Given the description of an element on the screen output the (x, y) to click on. 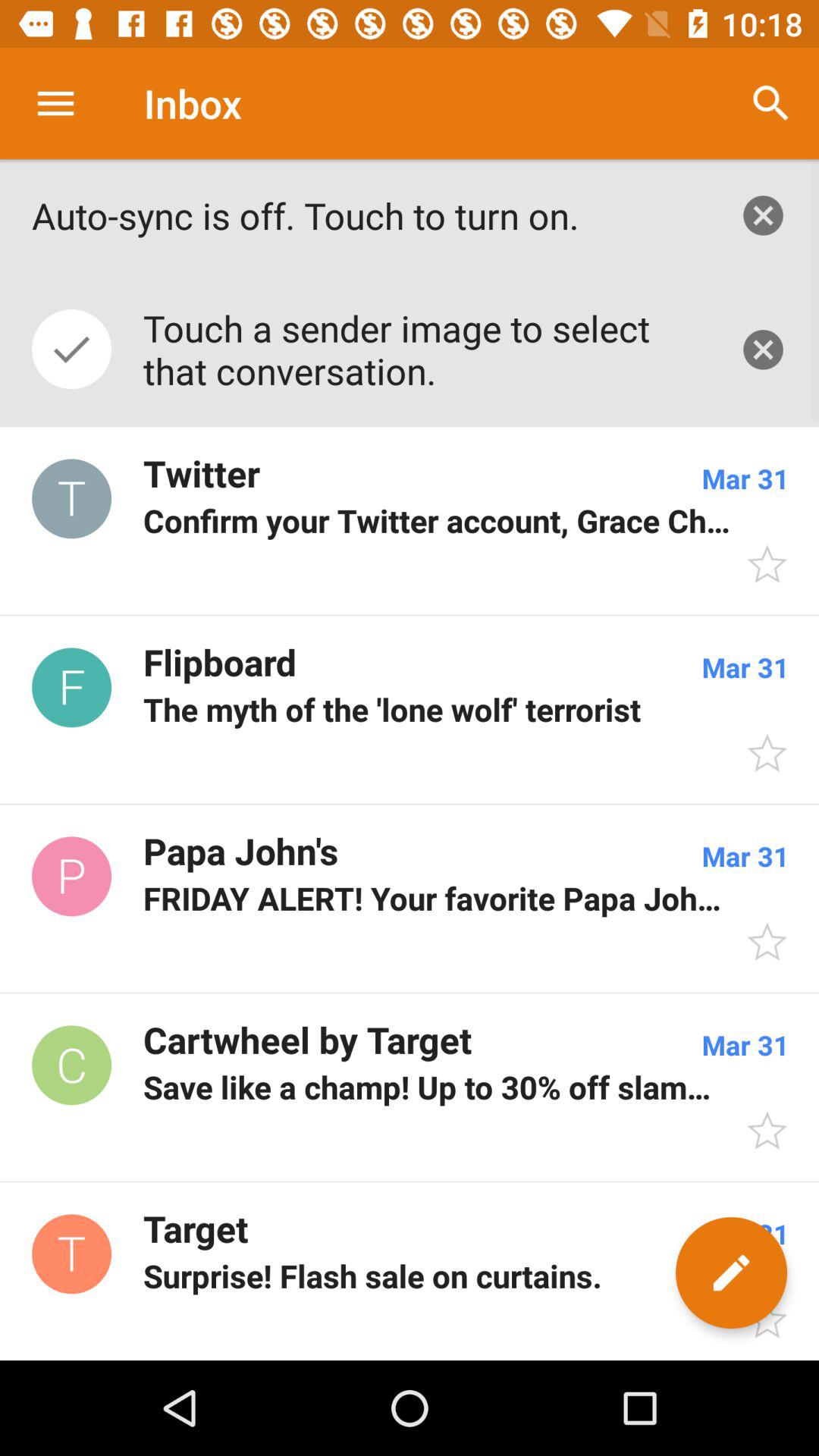
turn off icon next to auto sync is icon (771, 103)
